Given the description of an element on the screen output the (x, y) to click on. 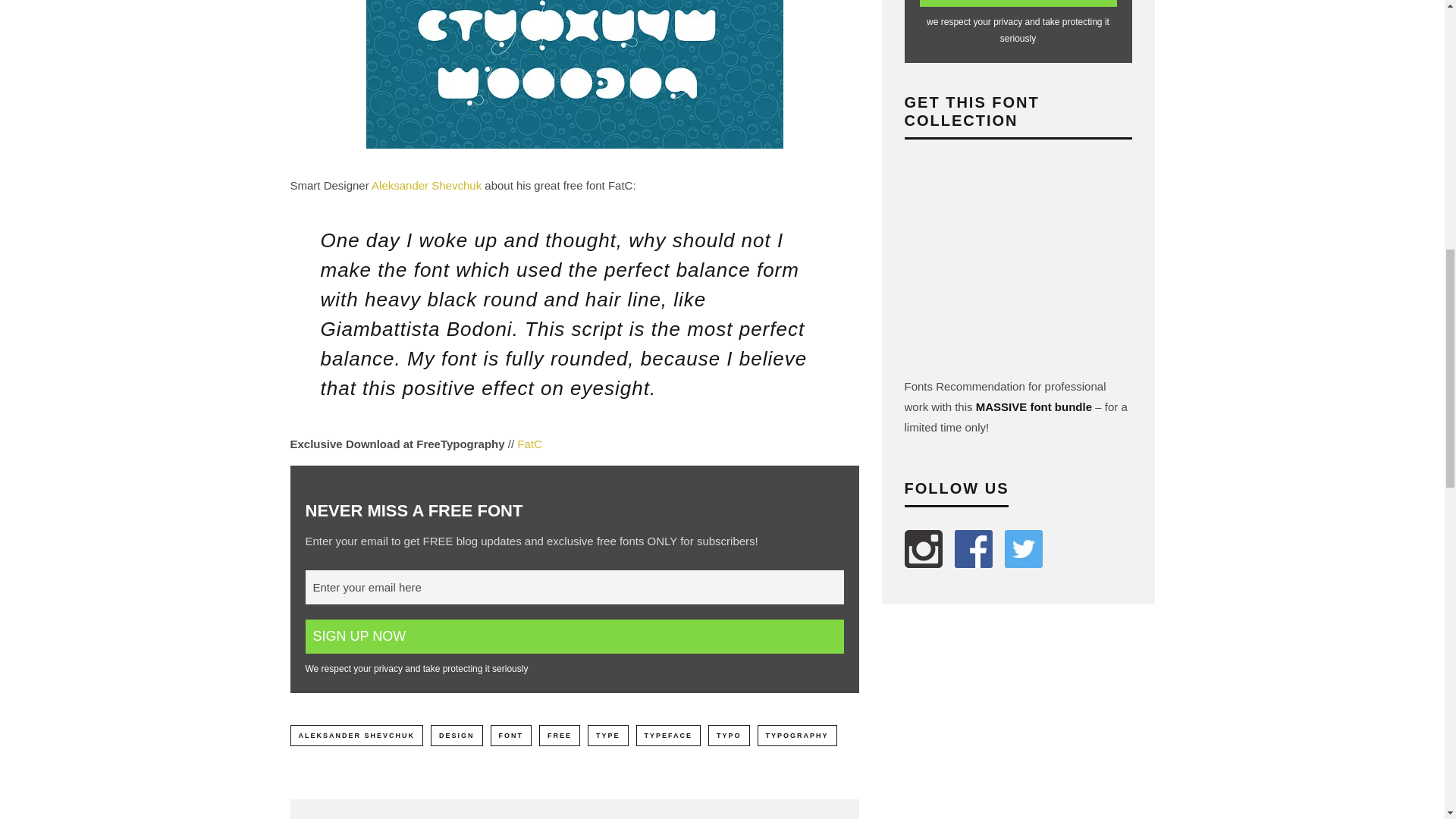
FatC-02 (574, 81)
Sign Up Now (573, 636)
Sign Up Now (1017, 3)
